Given the description of an element on the screen output the (x, y) to click on. 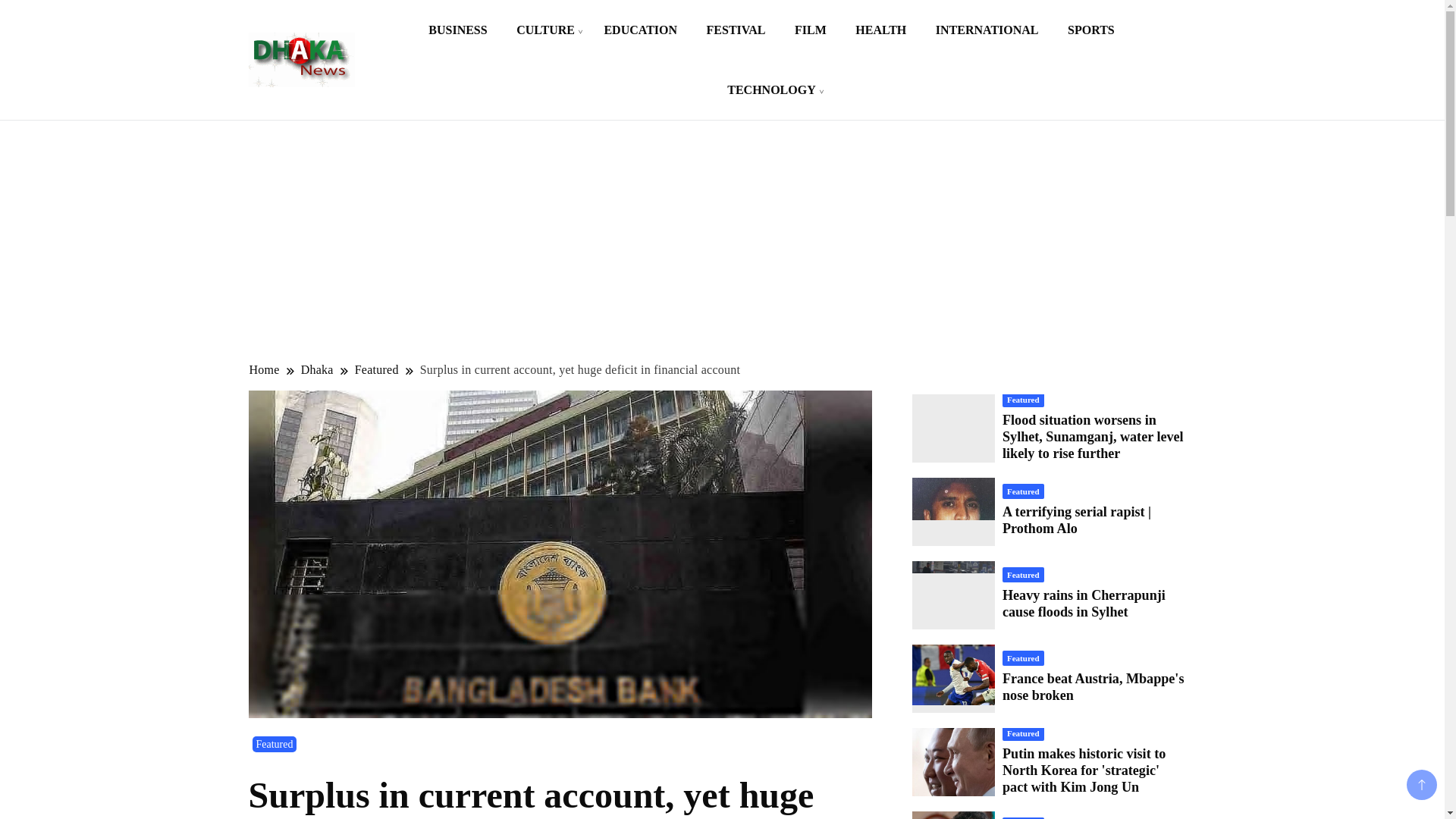
CULTURE (545, 29)
INTERNATIONAL (987, 29)
BUSINESS (456, 29)
DHAKA NEWS (427, 76)
Featured (375, 369)
FILM (810, 29)
SPORTS (1090, 29)
HEALTH (880, 29)
FESTIVAL (736, 29)
Dhaka (316, 369)
